Given the description of an element on the screen output the (x, y) to click on. 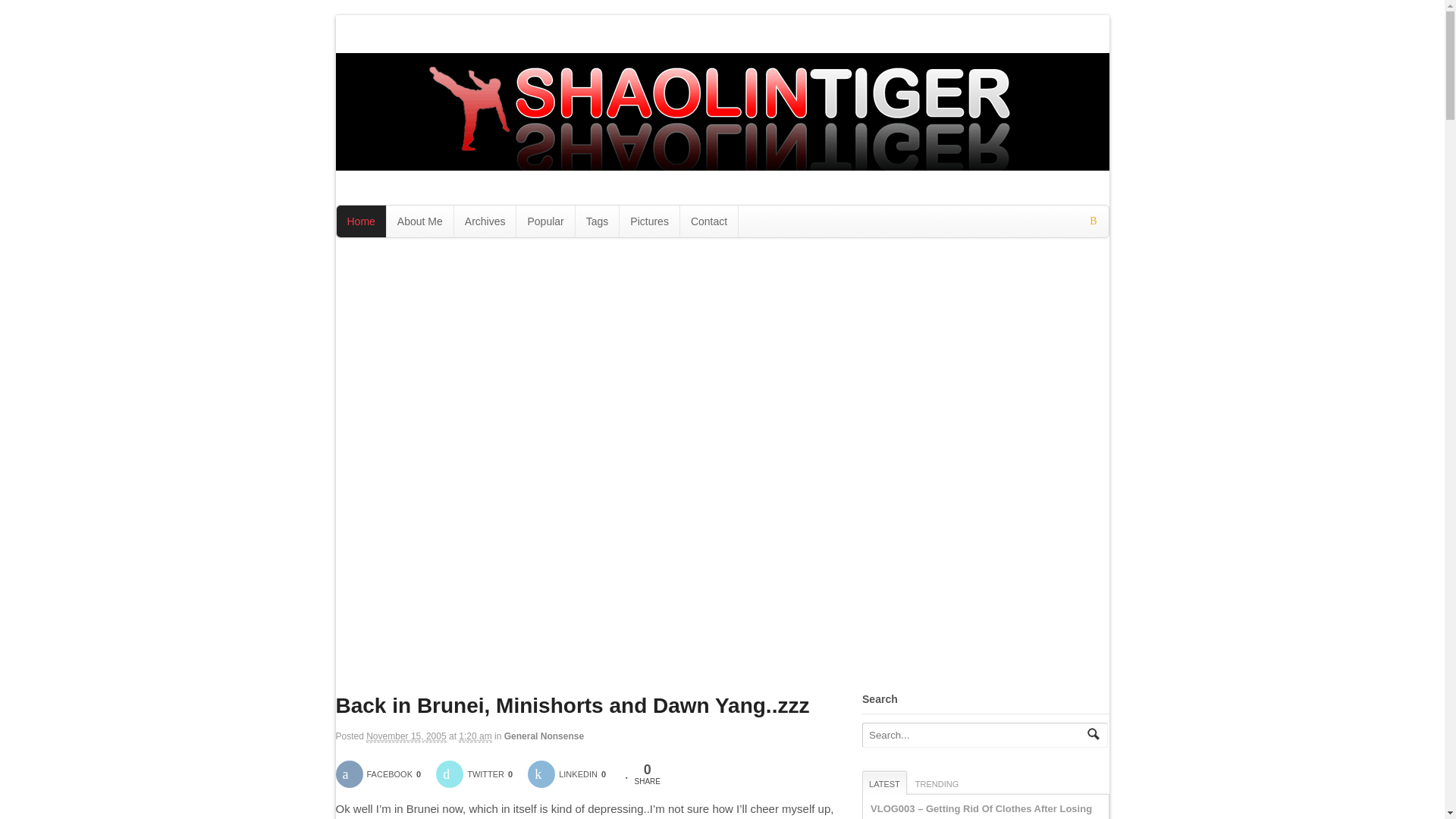
Share on Twitter (479, 773)
View all items in General Nonsense (543, 736)
Search... (973, 734)
Share on Facebook (383, 773)
Popular (544, 221)
Tags (597, 221)
Contact (708, 221)
Archives (485, 221)
Share on LinkedIn (572, 773)
FACEBOOK0 (383, 773)
